Given the description of an element on the screen output the (x, y) to click on. 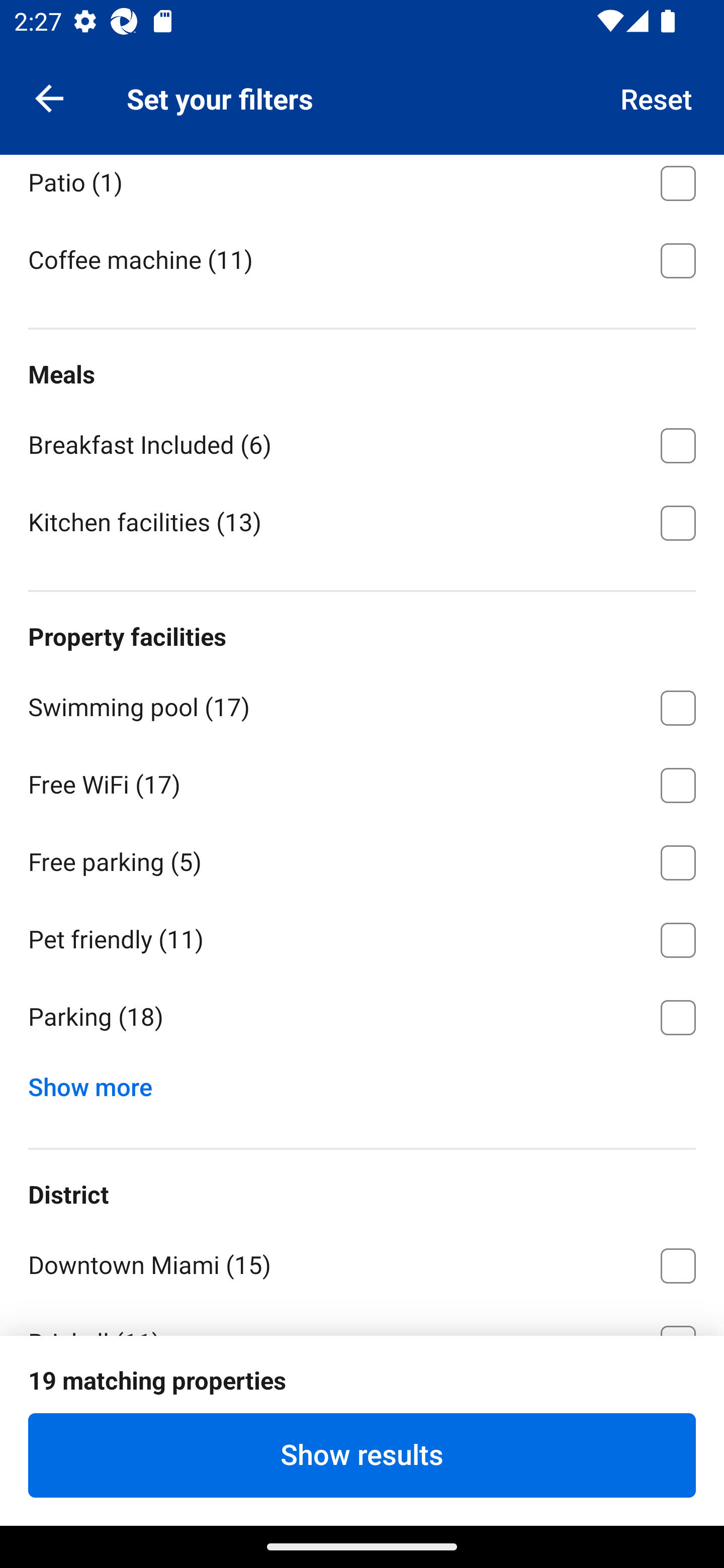
Navigate up (49, 97)
Reset (656, 97)
Soundproof ⁦(4) (361, 102)
Patio ⁦(1) (361, 186)
Coffee machine ⁦(11) (361, 258)
Breakfast Included ⁦(6) (361, 441)
Kitchen facilities ⁦(13) (361, 521)
Swimming pool ⁦(17) (361, 704)
Free WiFi ⁦(17) (361, 781)
Free parking ⁦(5) (361, 859)
Pet friendly ⁦(11) (361, 936)
Parking ⁦(18) (361, 1017)
Show more (97, 1082)
Downtown Miami ⁦(15) (361, 1262)
Show results (361, 1454)
